Given the description of an element on the screen output the (x, y) to click on. 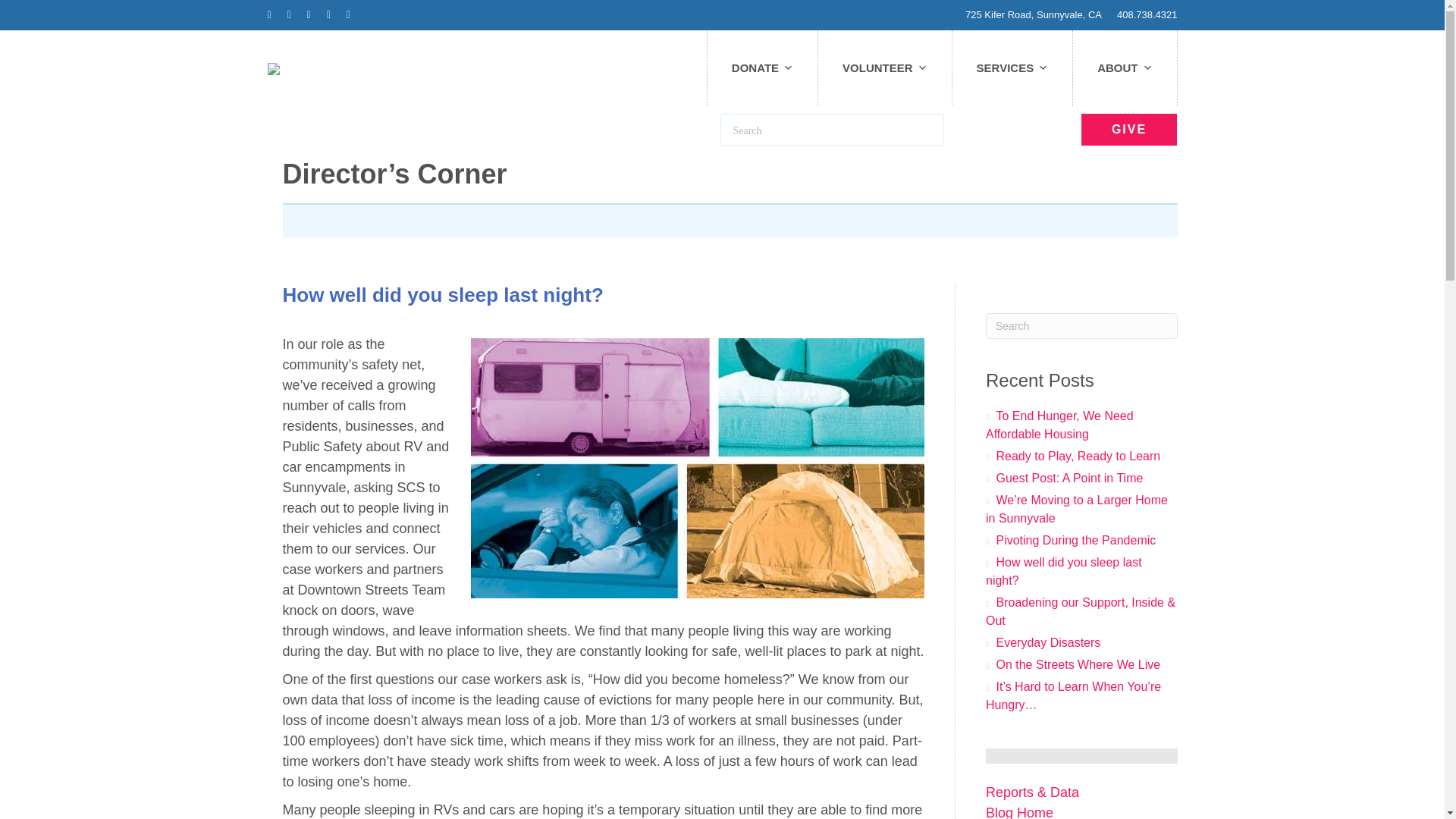
SERVICES (1012, 68)
725 Kifer Road, Sunnyvale, CA (1033, 14)
ABOUT (1124, 68)
Type and press Enter to search. (831, 129)
408.738.4321 (1146, 14)
VOLUNTEER (885, 68)
DONATE (761, 68)
Type and press Enter to search. (1081, 325)
